Given the description of an element on the screen output the (x, y) to click on. 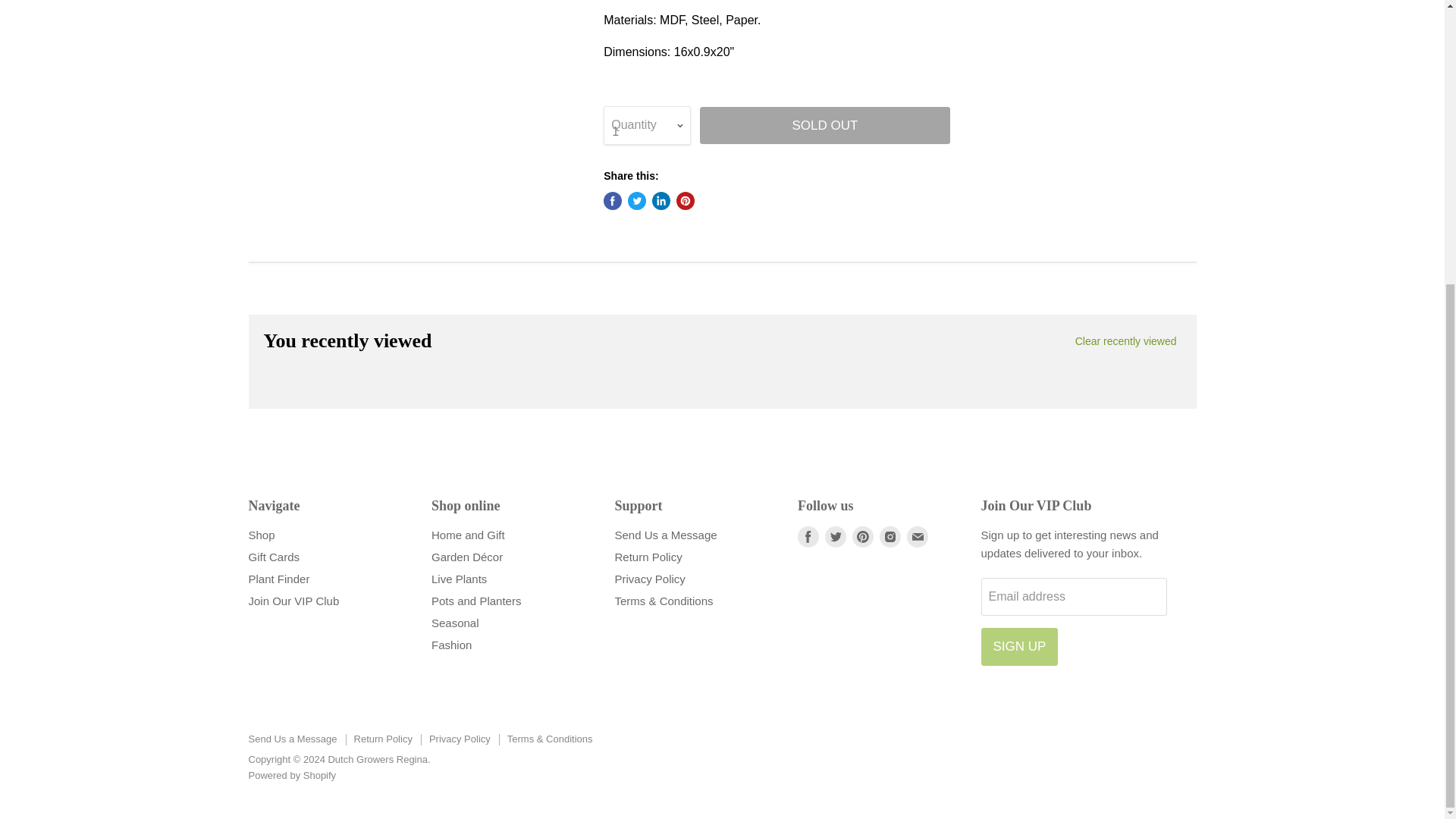
Facebook (808, 536)
E-mail (917, 536)
Pinterest (862, 536)
Instagram (890, 536)
Twitter (835, 536)
